Given the description of an element on the screen output the (x, y) to click on. 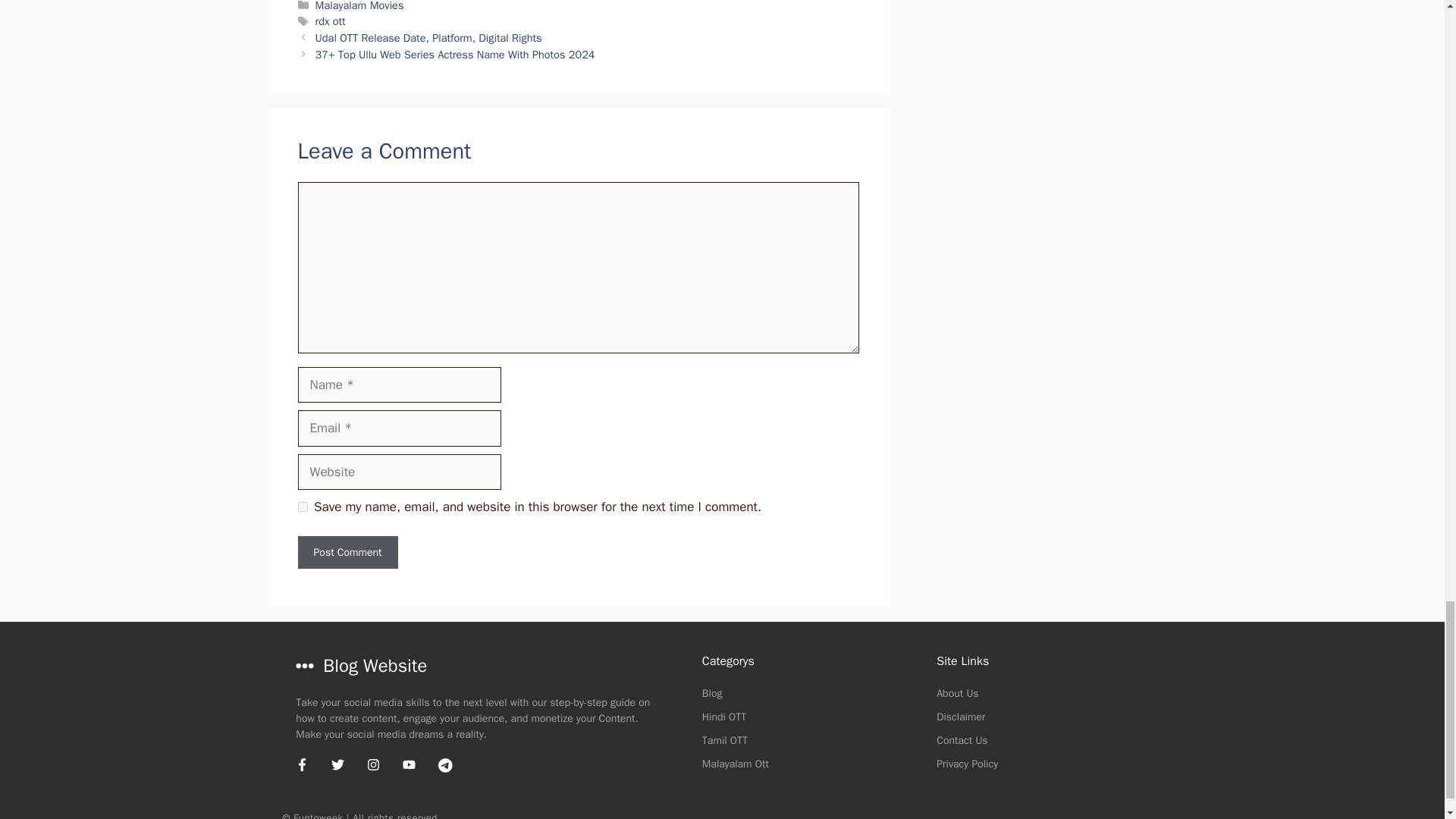
Udal OTT Release Date, Platform, Digital Rights (428, 38)
Hindi OTT (723, 716)
yes (302, 506)
Malayalam Ott (734, 763)
Malayalam Movies (359, 6)
Post Comment (347, 552)
rdx ott (330, 20)
Tamil OTT (724, 739)
Blog (711, 693)
Post Comment (347, 552)
